Given the description of an element on the screen output the (x, y) to click on. 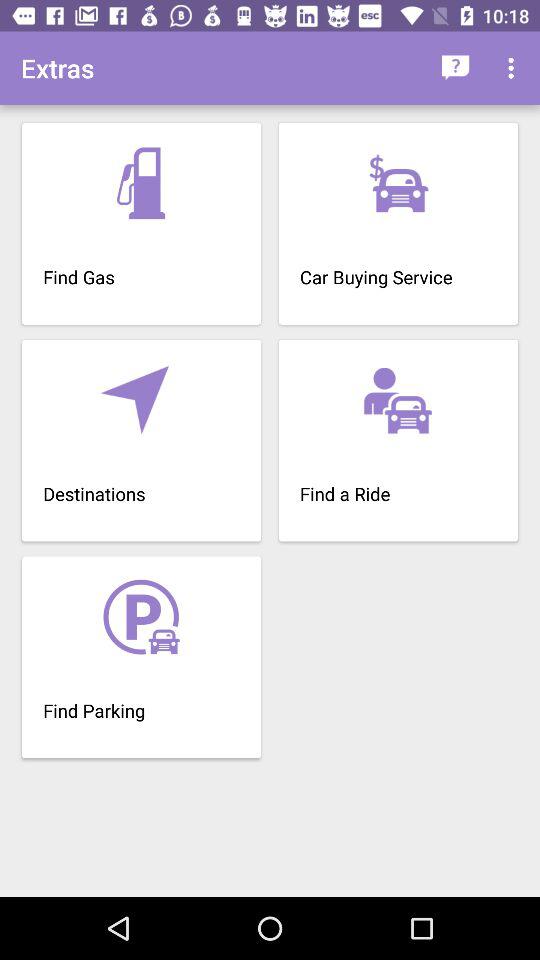
press the item next to extras (455, 67)
